Given the description of an element on the screen output the (x, y) to click on. 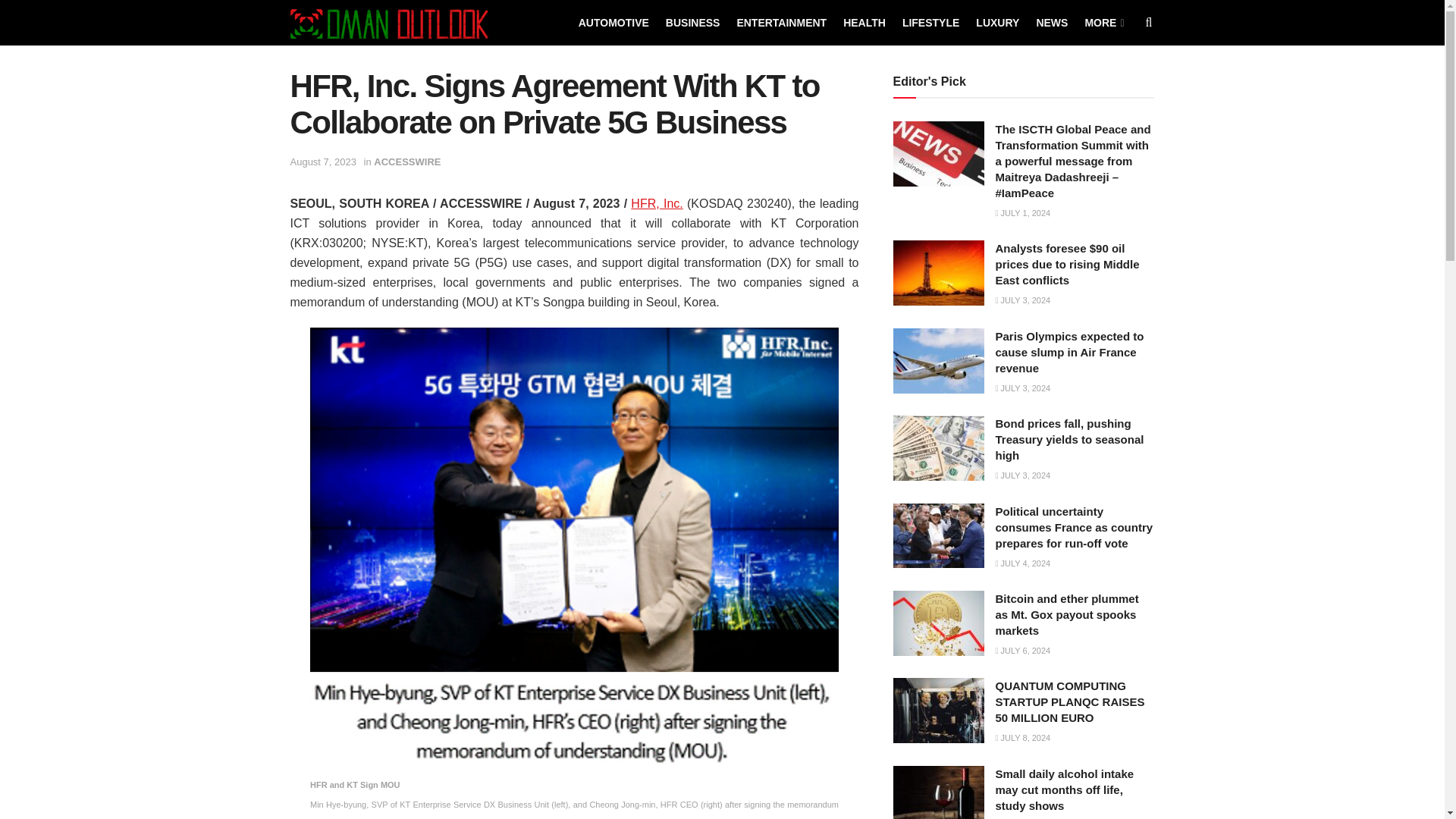
AUTOMOTIVE (613, 22)
HEALTH (864, 22)
August 7, 2023 (322, 161)
BUSINESS (692, 22)
LUXURY (997, 22)
NEWS (1051, 22)
ACCESSWIRE (407, 161)
MORE (1102, 22)
ENTERTAINMENT (781, 22)
LIFESTYLE (930, 22)
HFR, Inc. (656, 203)
